Given the description of an element on the screen output the (x, y) to click on. 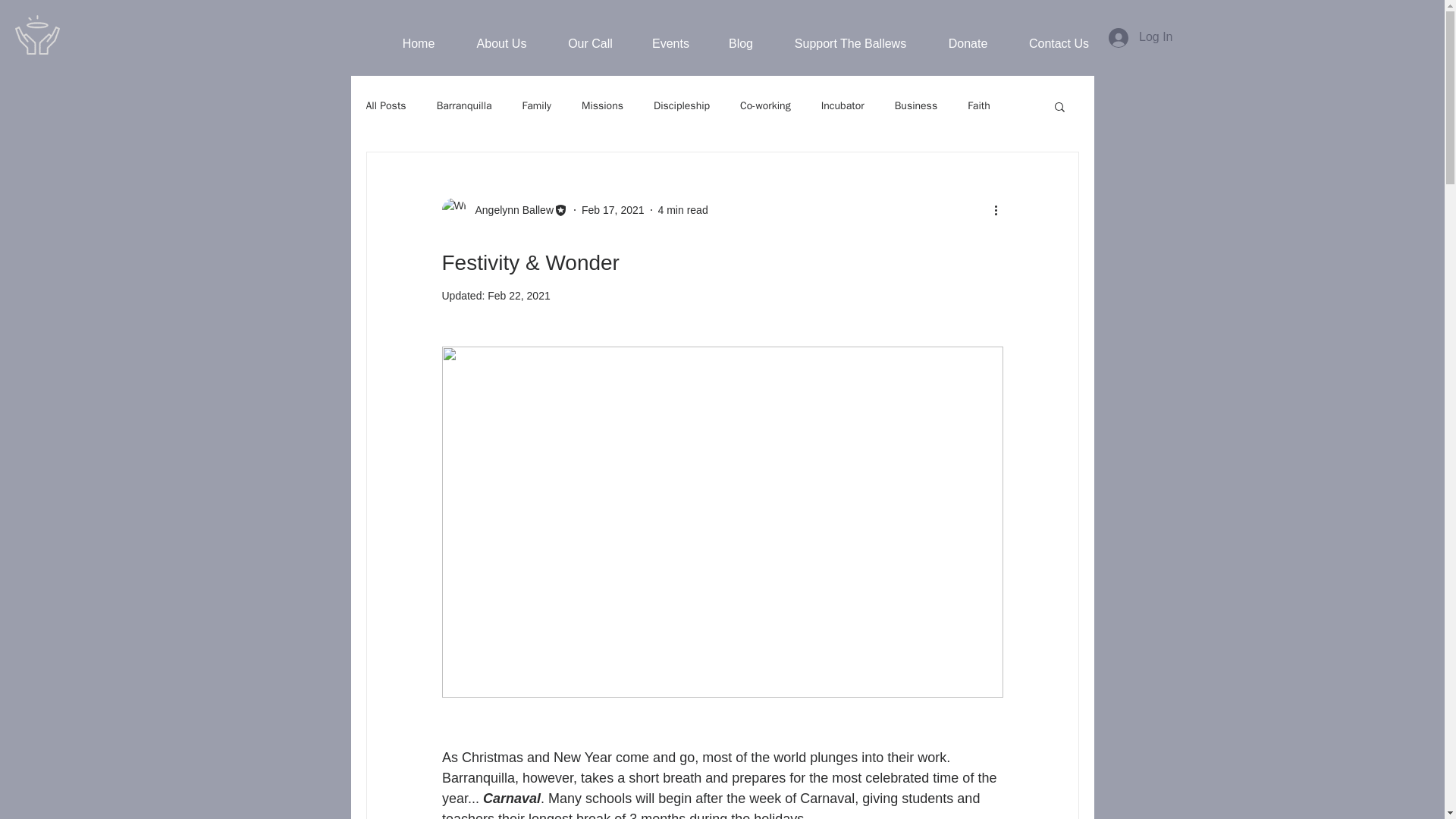
Feb 17, 2021 (612, 209)
Angelynn Ballew (509, 209)
Blog (740, 43)
Contact Us (1059, 43)
Support The Ballews (850, 43)
Faith (979, 106)
4 min read (682, 209)
About Us (500, 43)
All Posts (385, 106)
Our Call (589, 43)
Missions (601, 106)
Barranquilla (464, 106)
Business (916, 106)
Family (536, 106)
Home (418, 43)
